Given the description of an element on the screen output the (x, y) to click on. 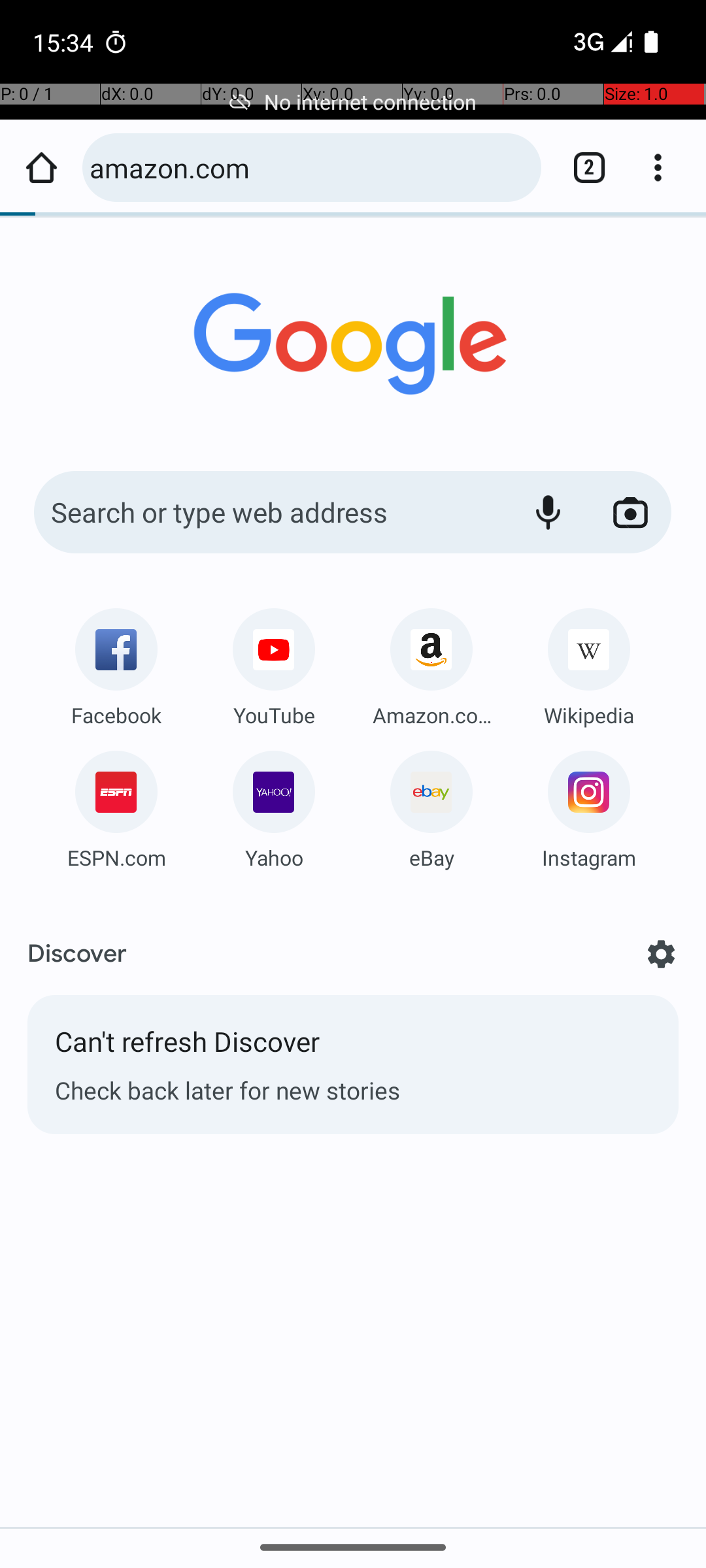
amazon.com Element type: android.widget.EditText (308, 167)
